Given the description of an element on the screen output the (x, y) to click on. 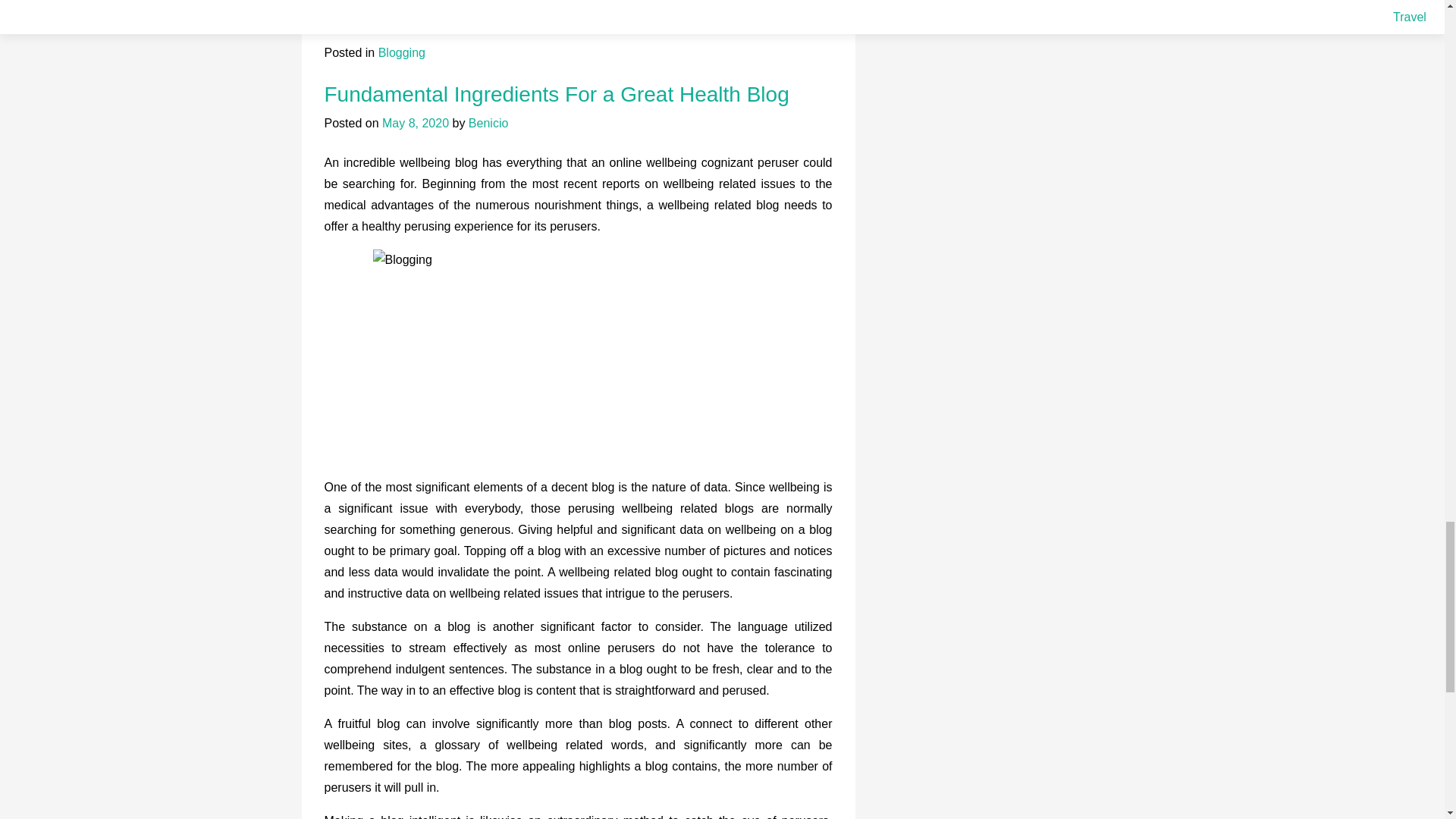
Blogging (401, 51)
May 8, 2020 (414, 123)
Benicio (488, 123)
Fundamental Ingredients For a Great Health Blog (556, 94)
